Given the description of an element on the screen output the (x, y) to click on. 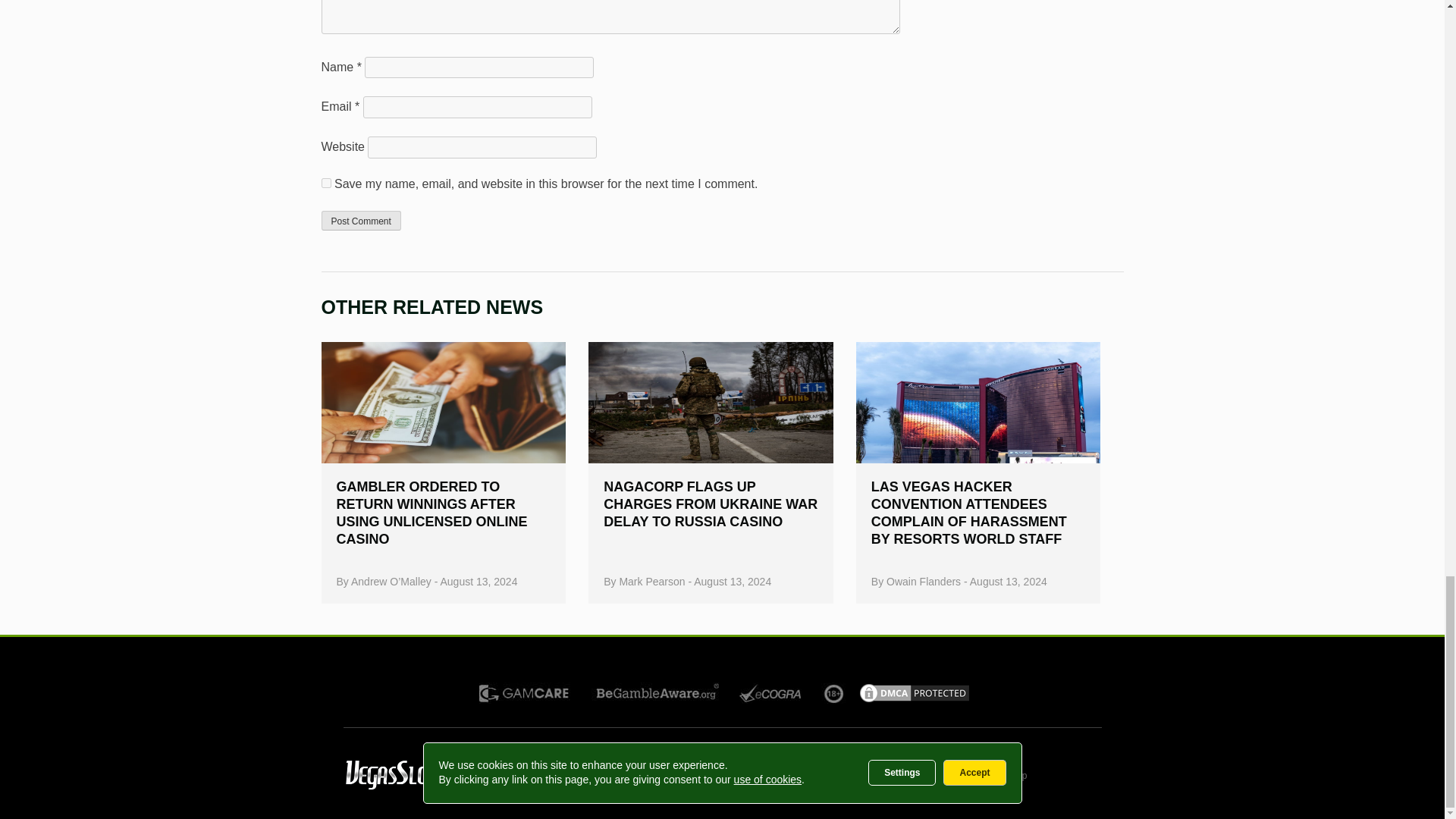
Gamcare (524, 693)
DMCA.com Protection Status (914, 699)
Post Comment (361, 220)
Ecogra (772, 692)
Post Comment (361, 220)
Gambleaware (661, 692)
yes (326, 183)
